Given the description of an element on the screen output the (x, y) to click on. 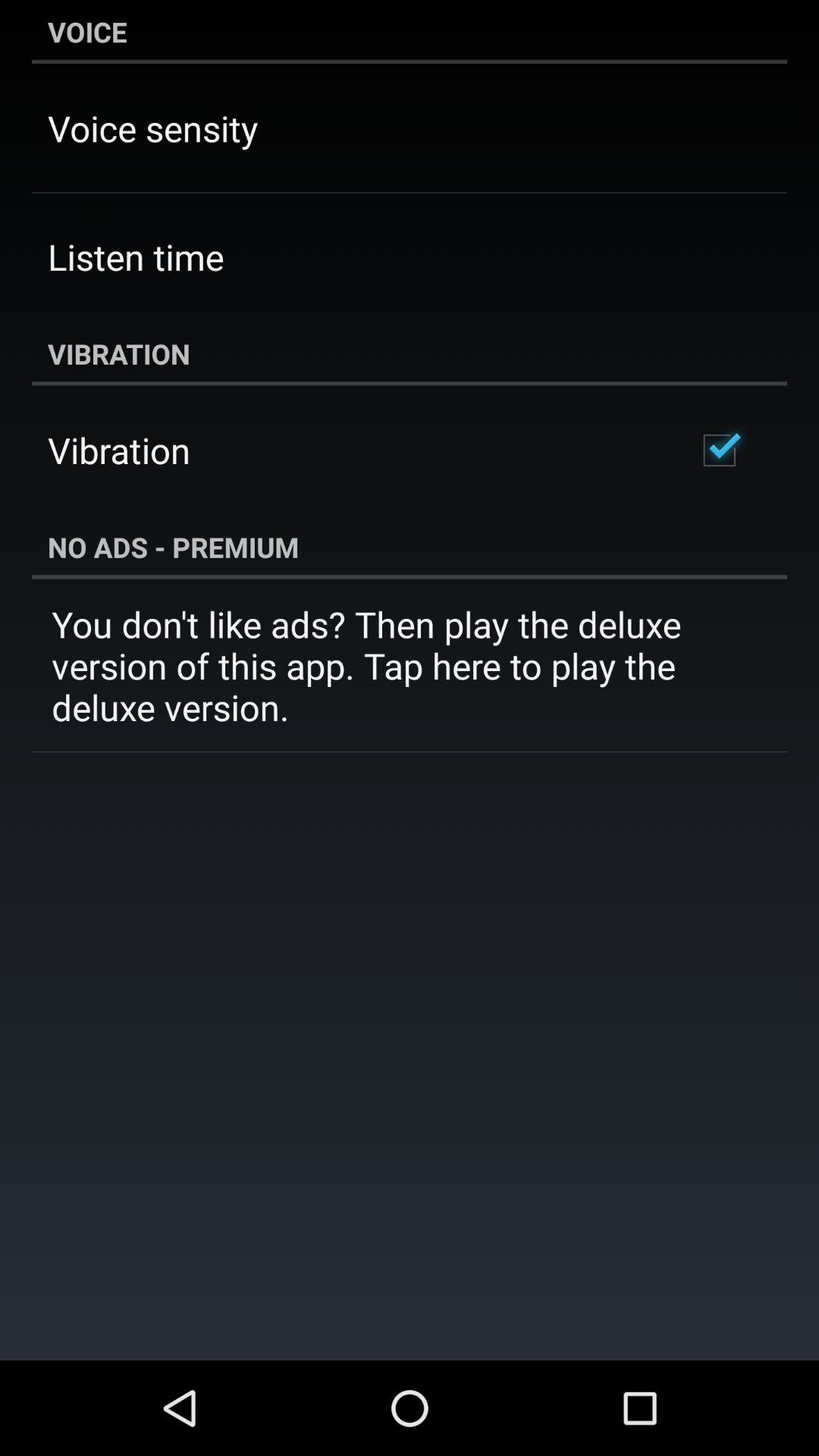
turn off the icon above no ads - premium item (719, 450)
